Given the description of an element on the screen output the (x, y) to click on. 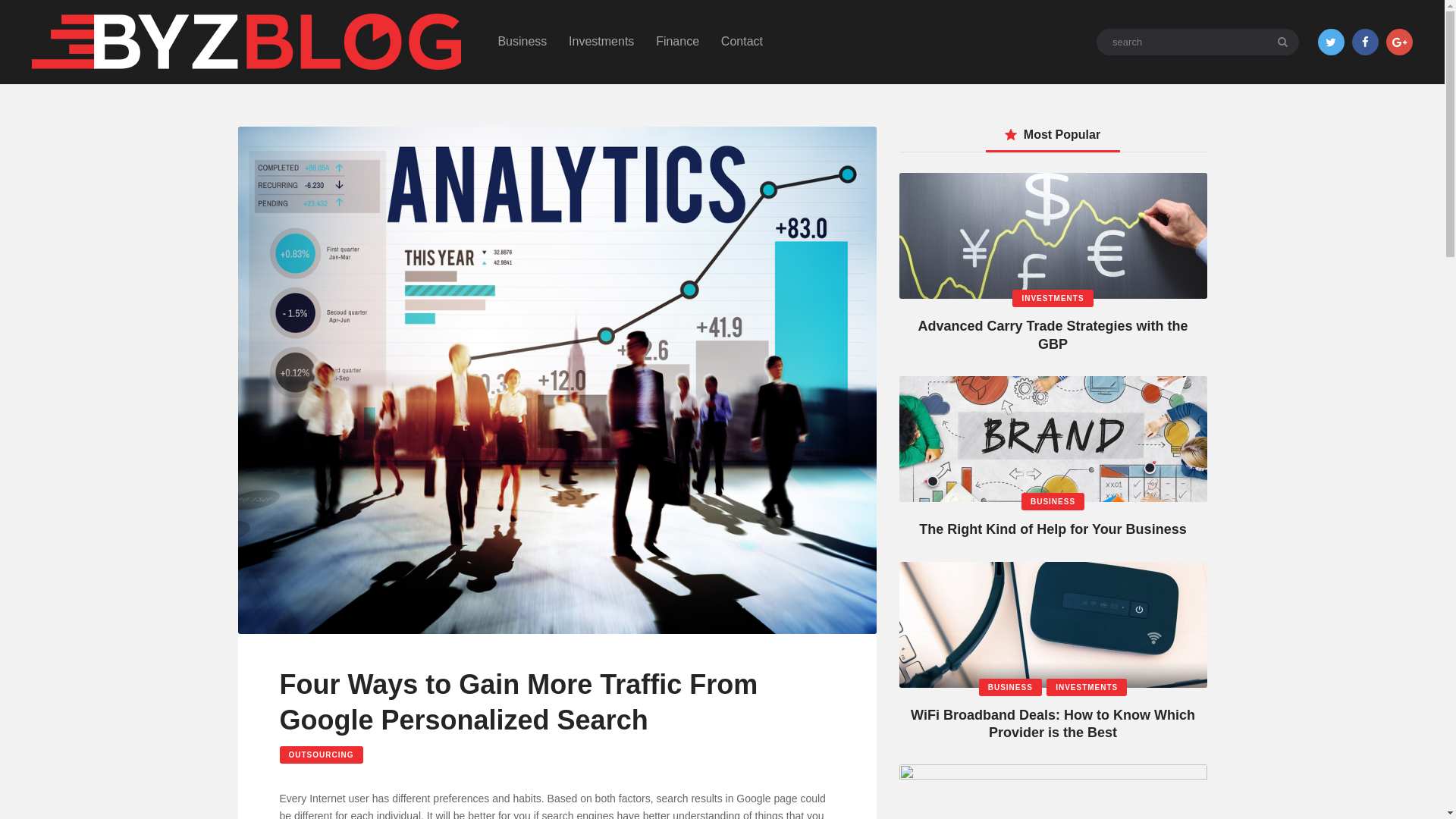
Business (521, 42)
Contact (741, 42)
OUTSOURCING (320, 754)
Investments (601, 42)
Finance (677, 42)
